Given the description of an element on the screen output the (x, y) to click on. 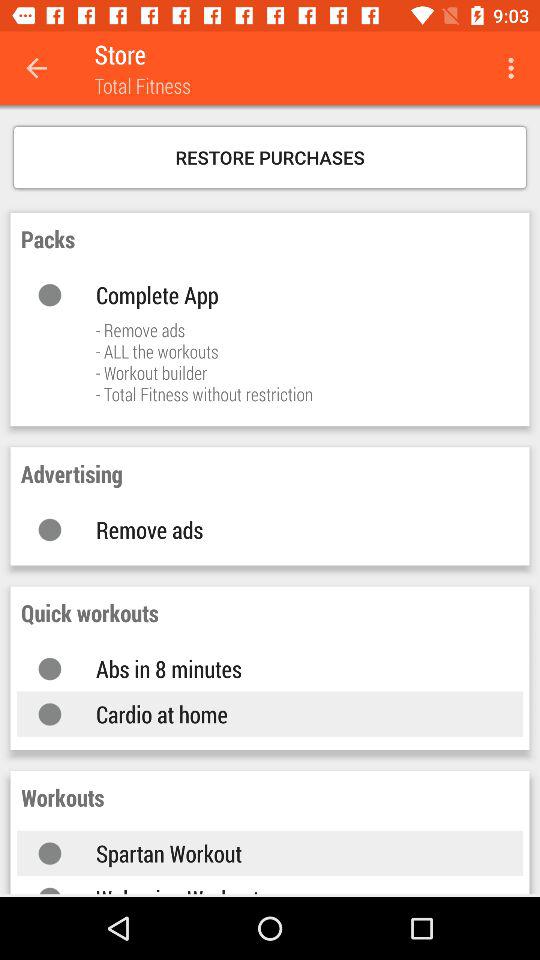
click the complete app (289, 294)
